Given the description of an element on the screen output the (x, y) to click on. 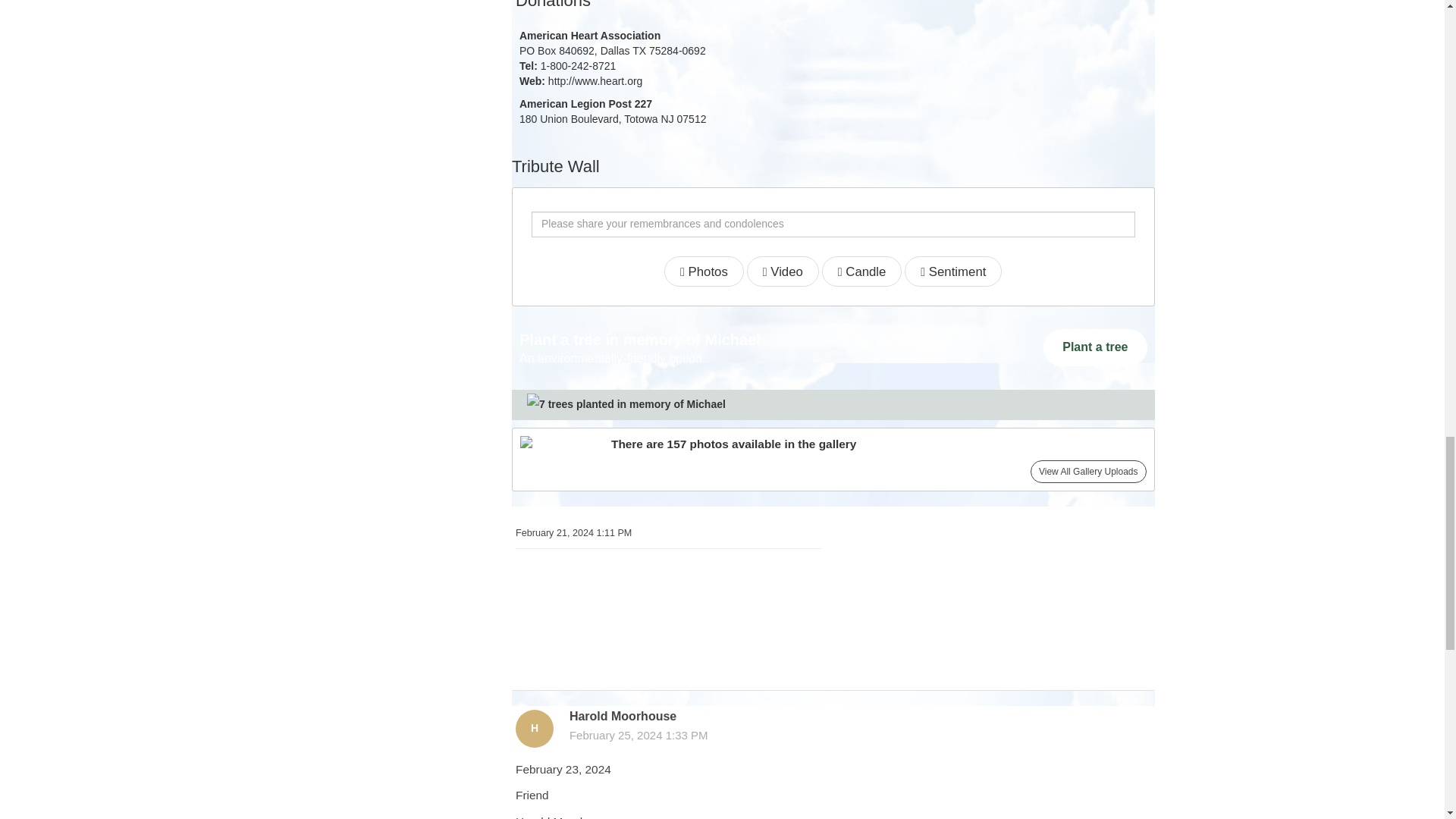
Harold Moorhouse (534, 728)
